Given the description of an element on the screen output the (x, y) to click on. 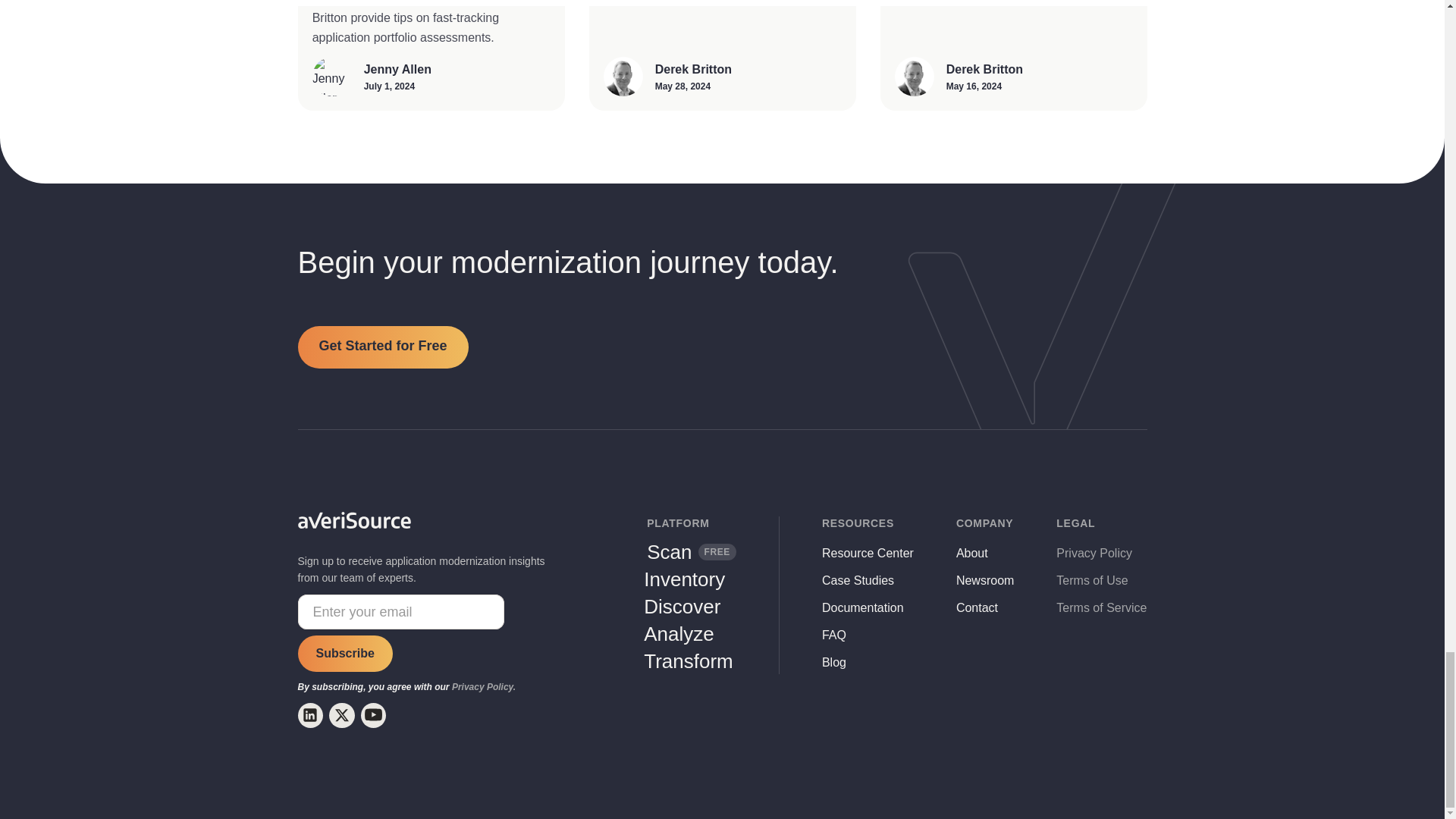
Subscribe (344, 653)
